Given the description of an element on the screen output the (x, y) to click on. 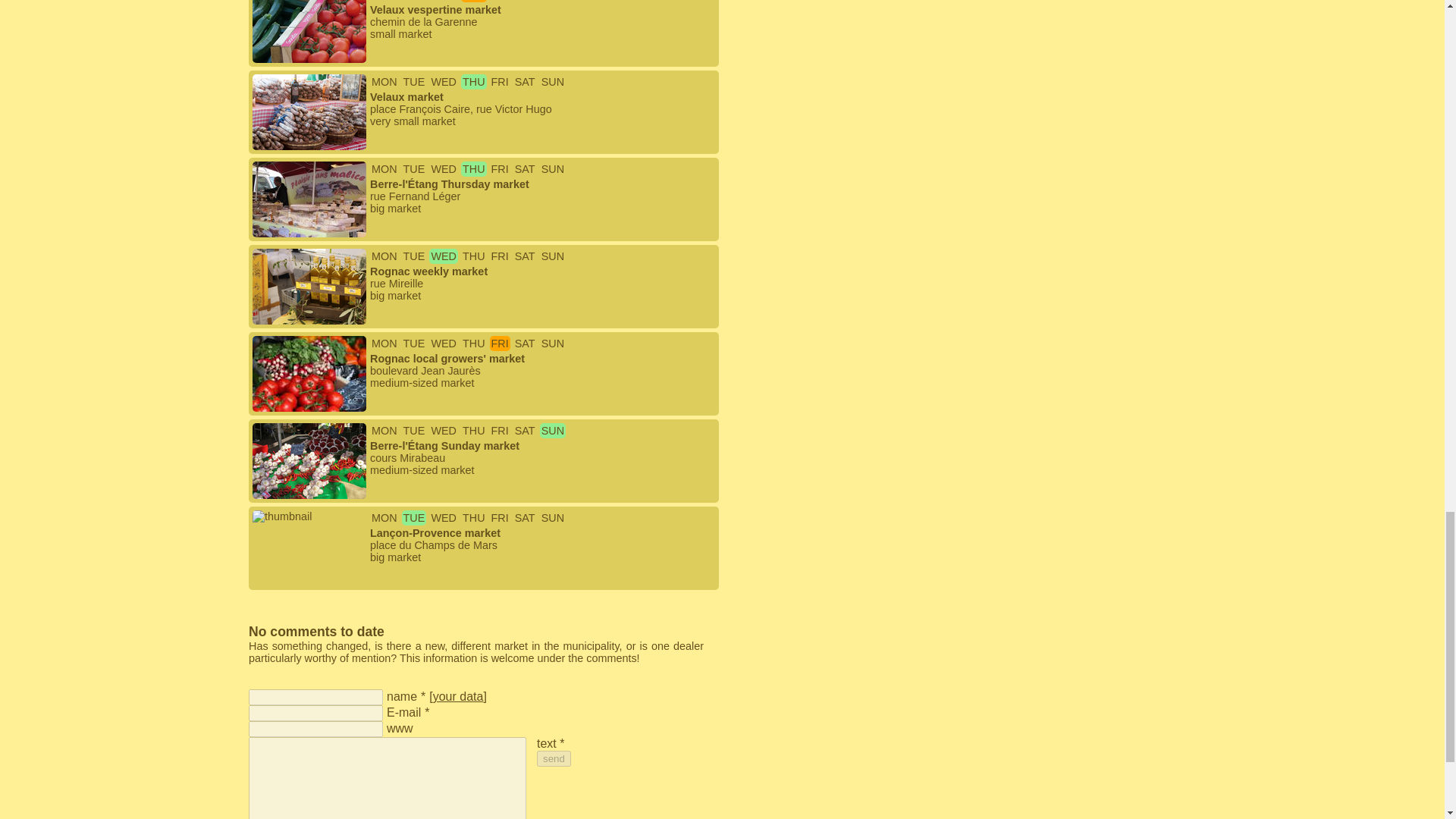
your data (457, 696)
send (553, 758)
